Given the description of an element on the screen output the (x, y) to click on. 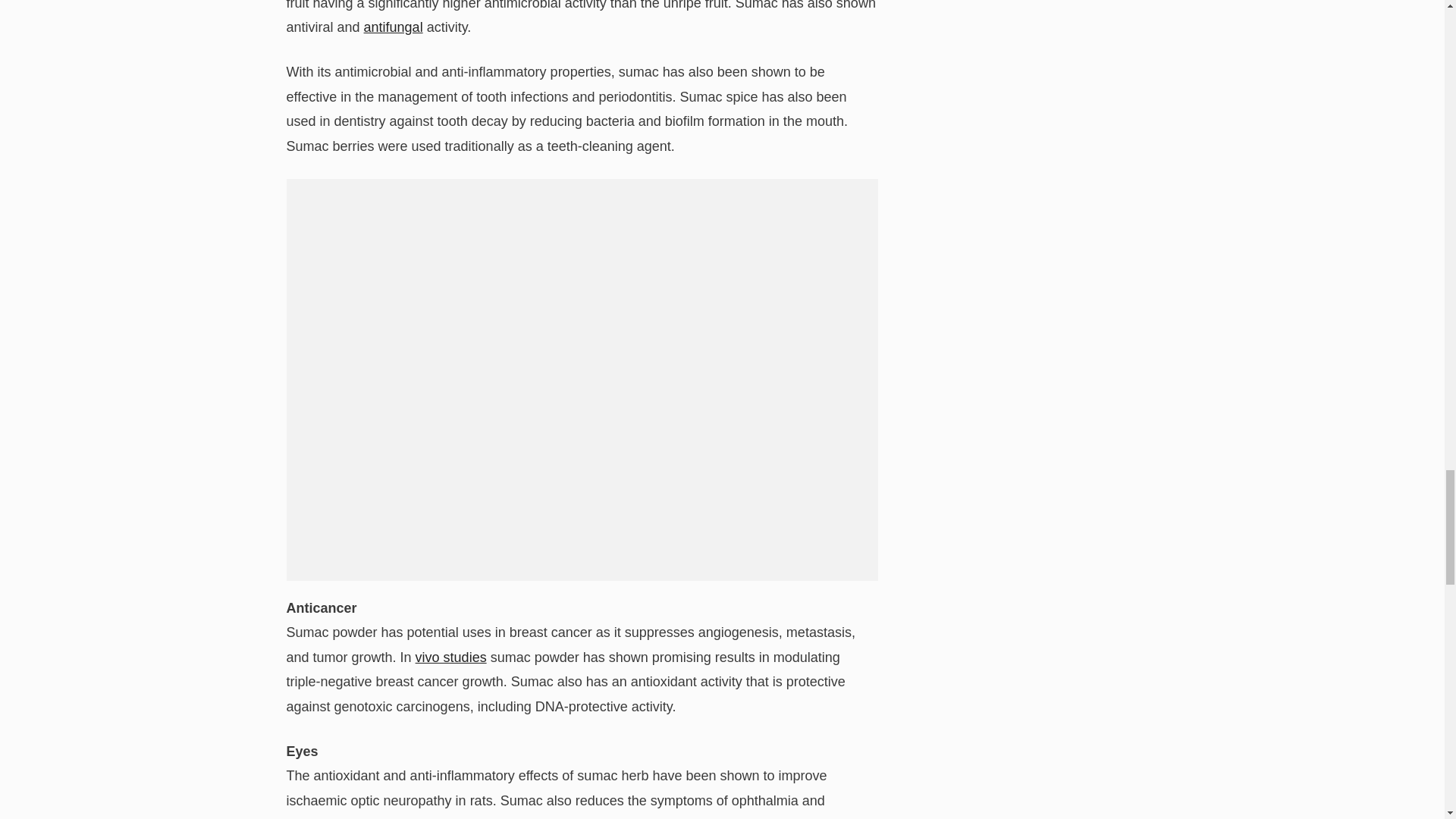
antifungal (393, 27)
vivo studies (450, 657)
